Given the description of an element on the screen output the (x, y) to click on. 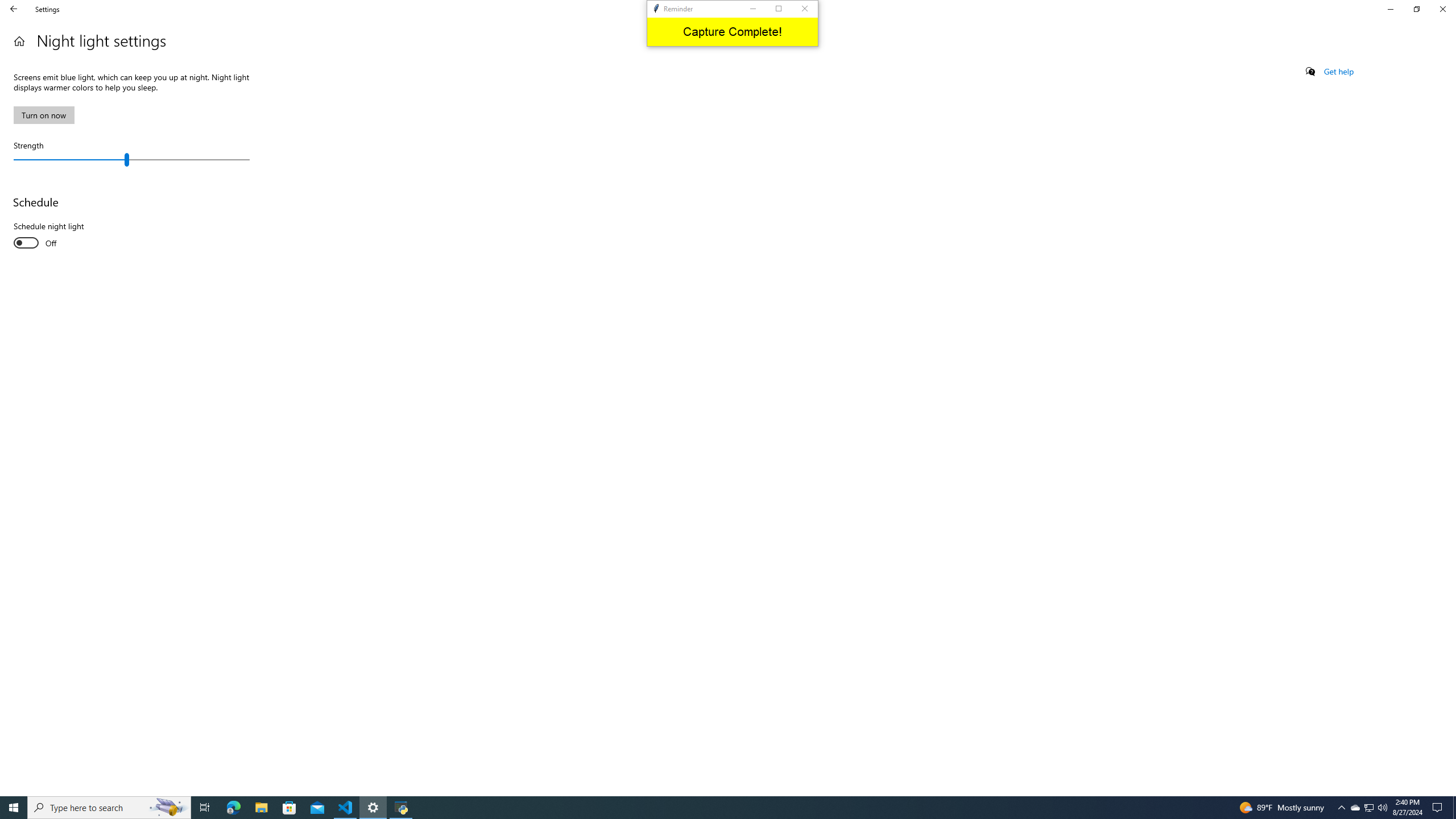
Minimize Settings (1390, 9)
Strength (130, 159)
Start (13, 807)
File Explorer (261, 807)
Running applications (717, 807)
Task View (204, 807)
Get help (1338, 71)
Settings - 1 running window (373, 807)
Visual Studio Code - 1 running window (345, 807)
User Promoted Notification Area (1355, 807)
Back (1368, 807)
